Given the description of an element on the screen output the (x, y) to click on. 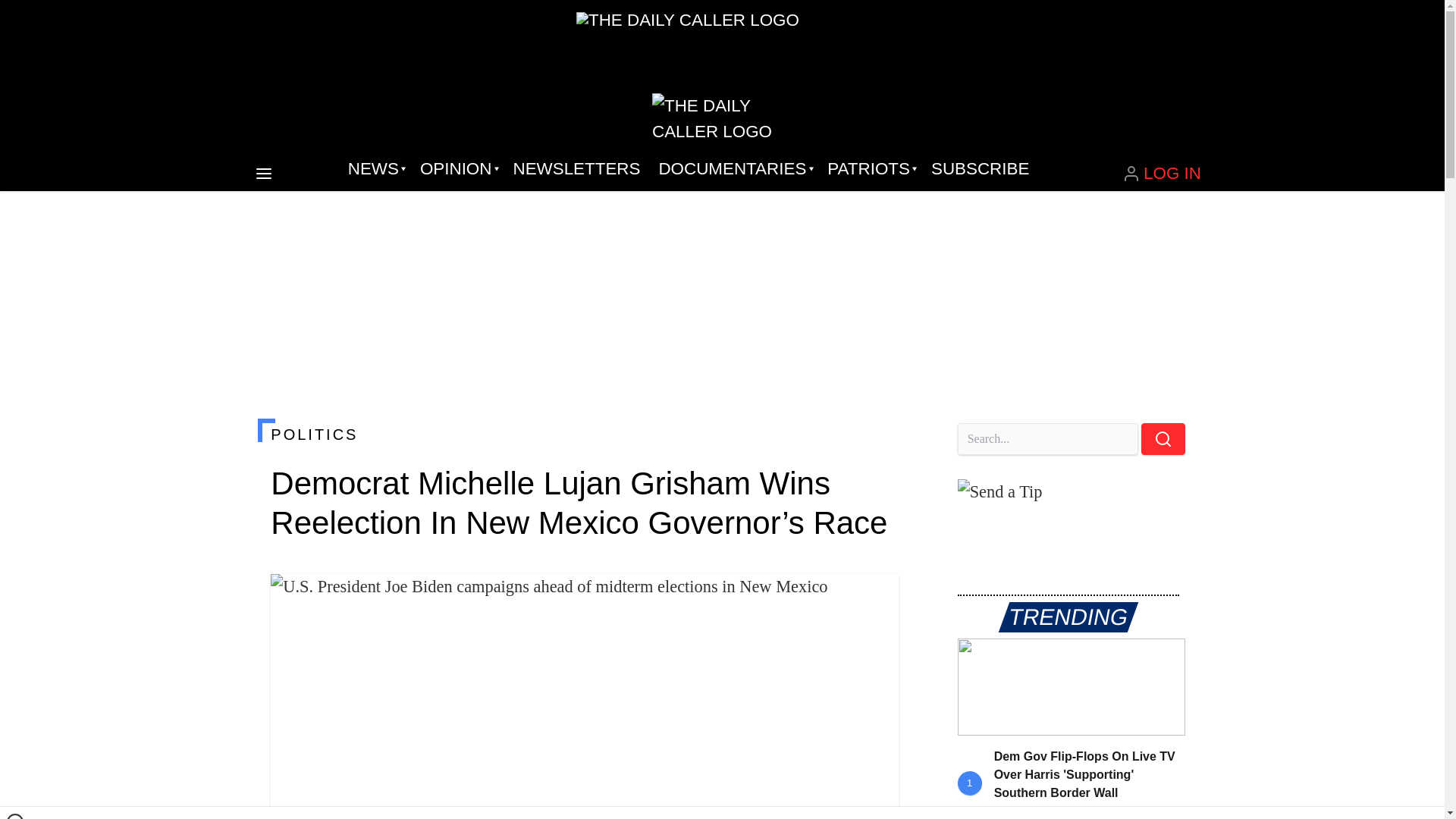
DOCUMENTARIES (733, 168)
OPINION (456, 168)
NEWS (374, 168)
SUBSCRIBE (979, 168)
Toggle fullscreen (874, 597)
PATRIOTS (869, 168)
Close window (14, 816)
POLITICS (584, 434)
